Given the description of an element on the screen output the (x, y) to click on. 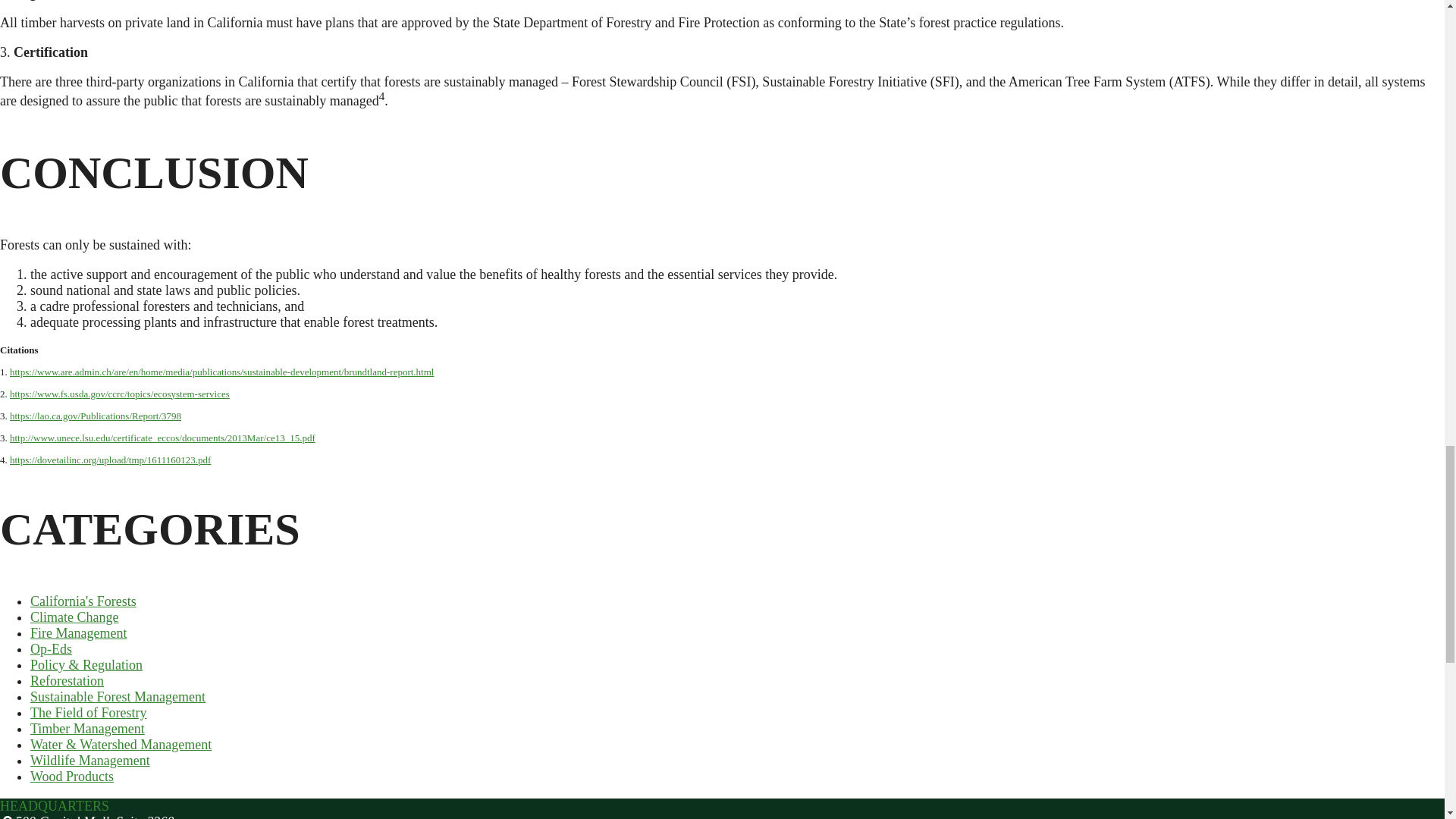
California's Forests (83, 601)
